Given the description of an element on the screen output the (x, y) to click on. 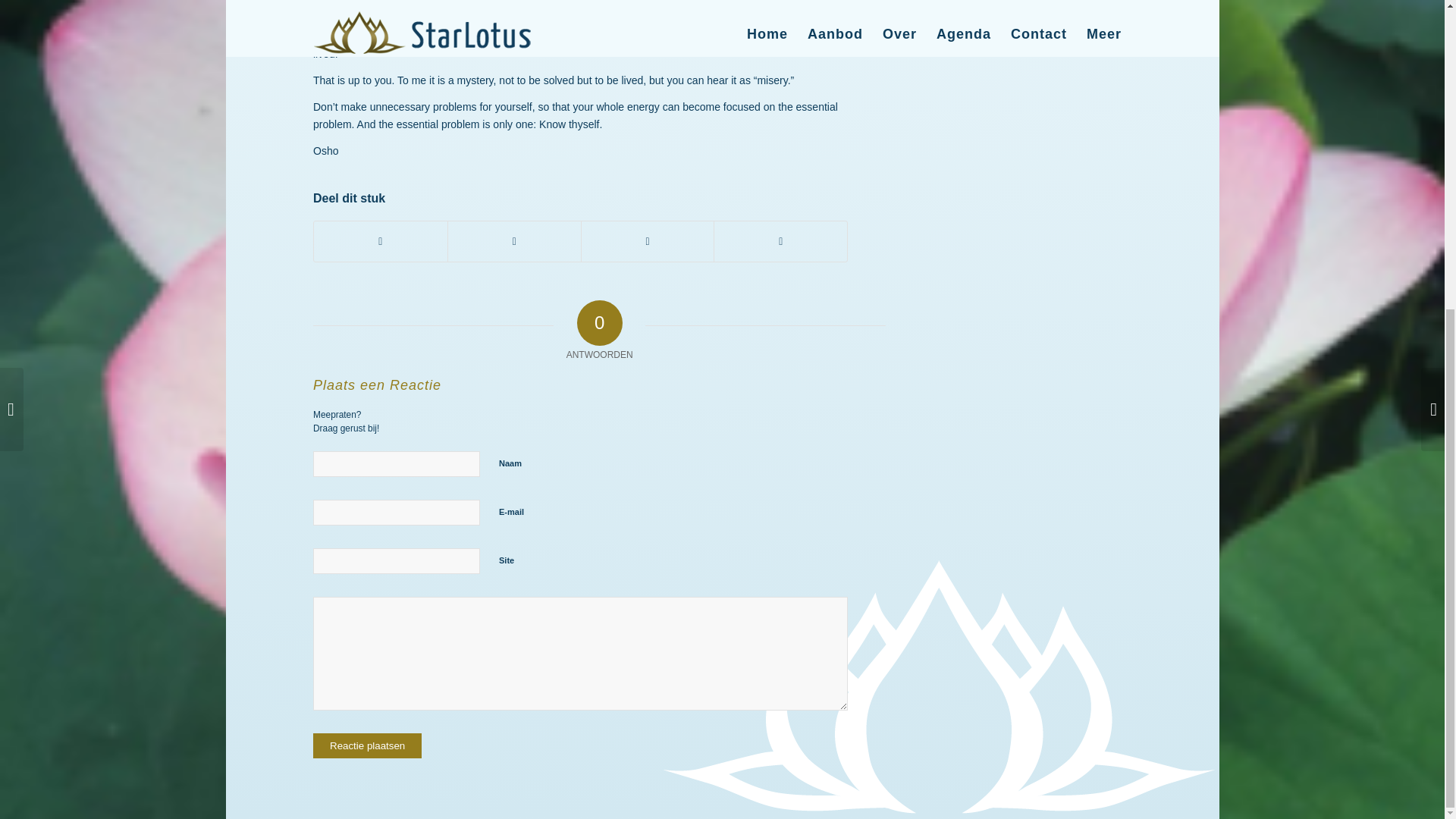
Reactie plaatsen (367, 745)
Reactie plaatsen (367, 745)
